Given the description of an element on the screen output the (x, y) to click on. 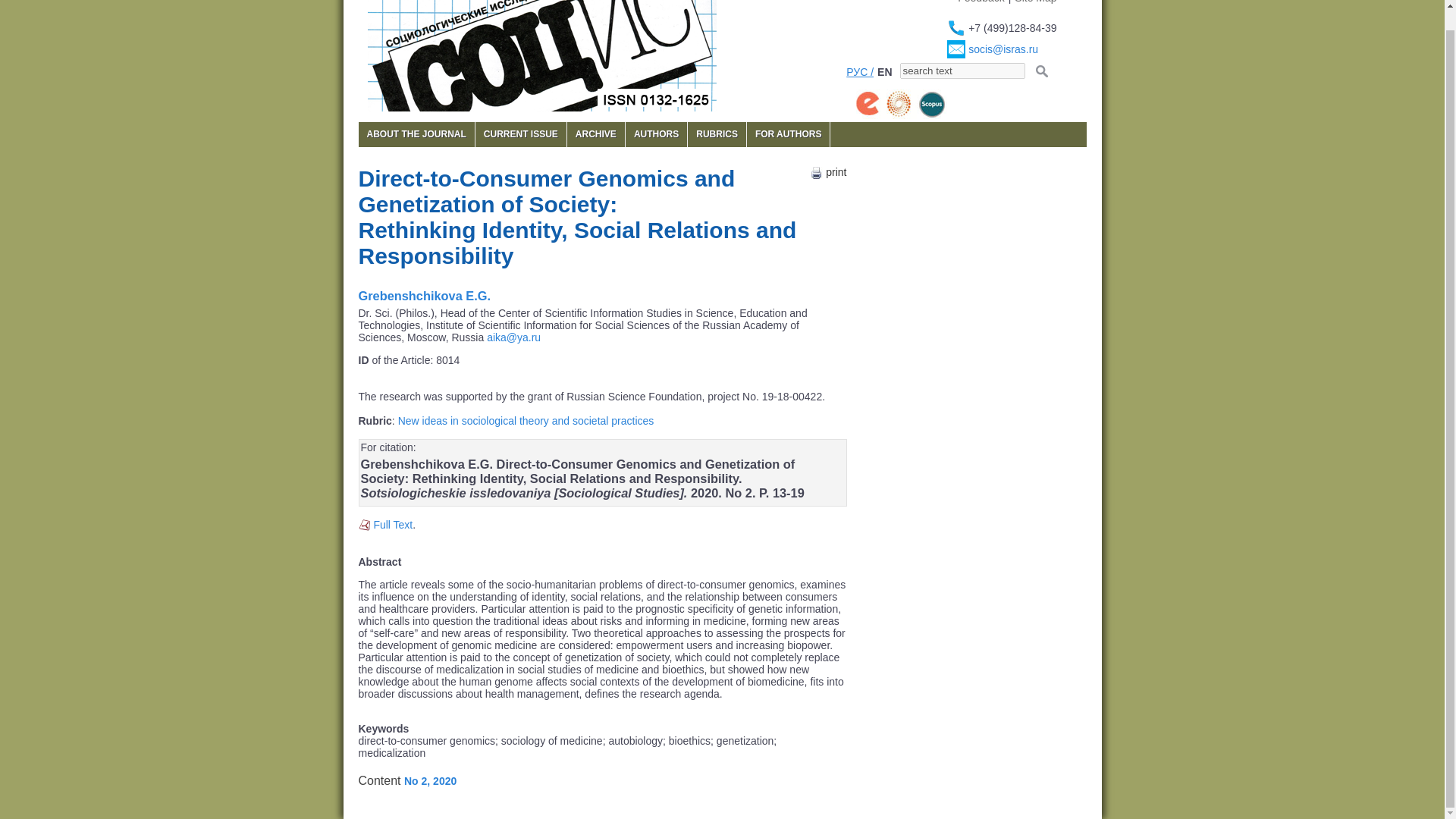
search text (962, 70)
RUBRICS (716, 134)
AUTHORS (656, 134)
ARCHIVE (595, 134)
Site Map (1035, 2)
CURRENT ISSUE (521, 134)
Feedback (981, 2)
ABOUT THE JOURNAL (416, 134)
FOR AUTHORS (787, 134)
download free (392, 524)
